Given the description of an element on the screen output the (x, y) to click on. 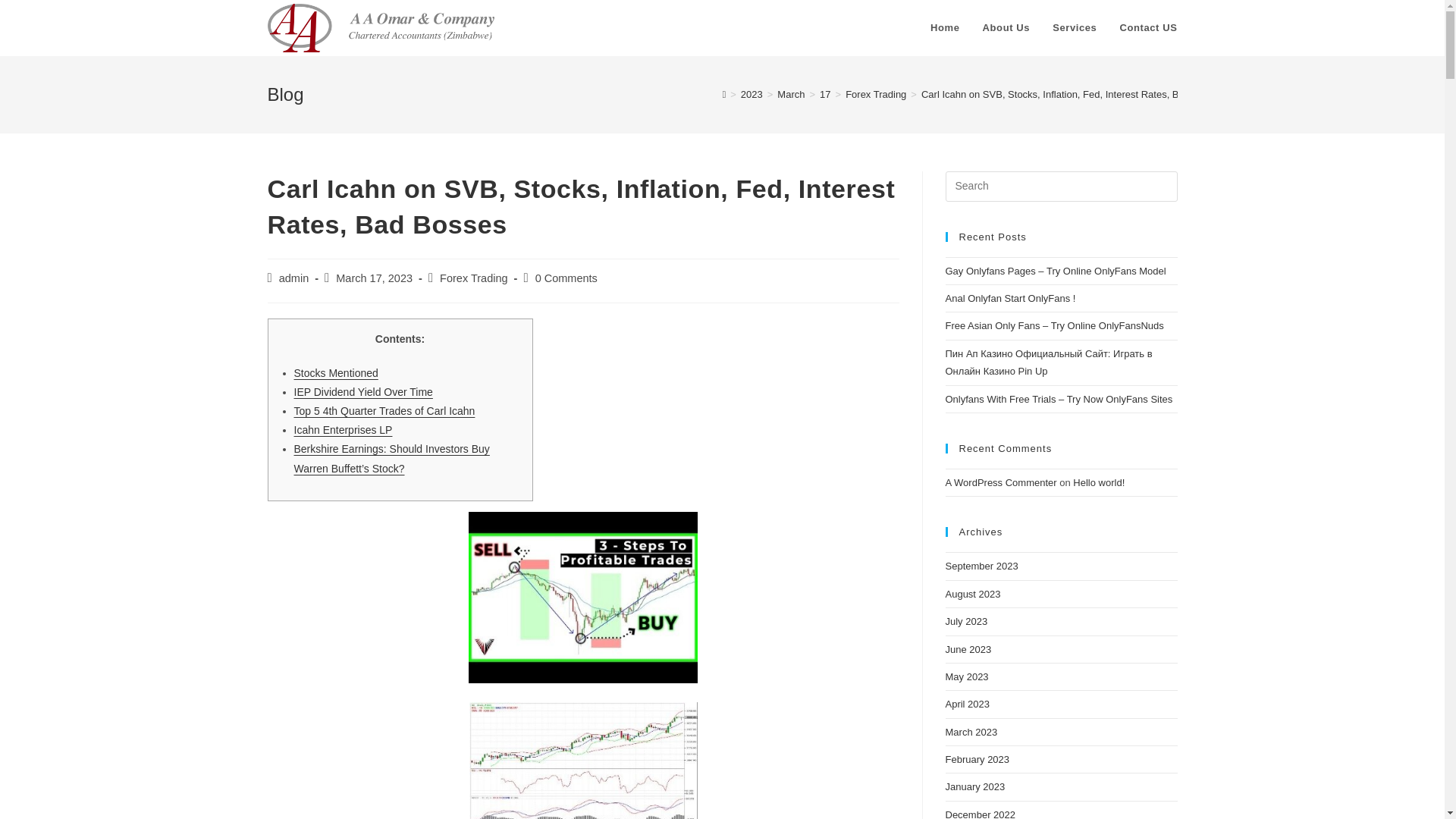
Anal Onlyfan Start OnlyFans ! (1009, 297)
Icahn Enterprises LP (343, 429)
Posts by admin (293, 277)
Stocks Mentioned (336, 372)
Services (1074, 28)
March (791, 93)
17 (824, 93)
2023 (751, 93)
Contact US (1148, 28)
IEP Dividend Yield Over Time (363, 391)
About Us (1006, 28)
Top 5 4th Quarter Trades of Carl Icahn (385, 410)
Forex Trading (875, 93)
Forex Trading (472, 277)
